Given the description of an element on the screen output the (x, y) to click on. 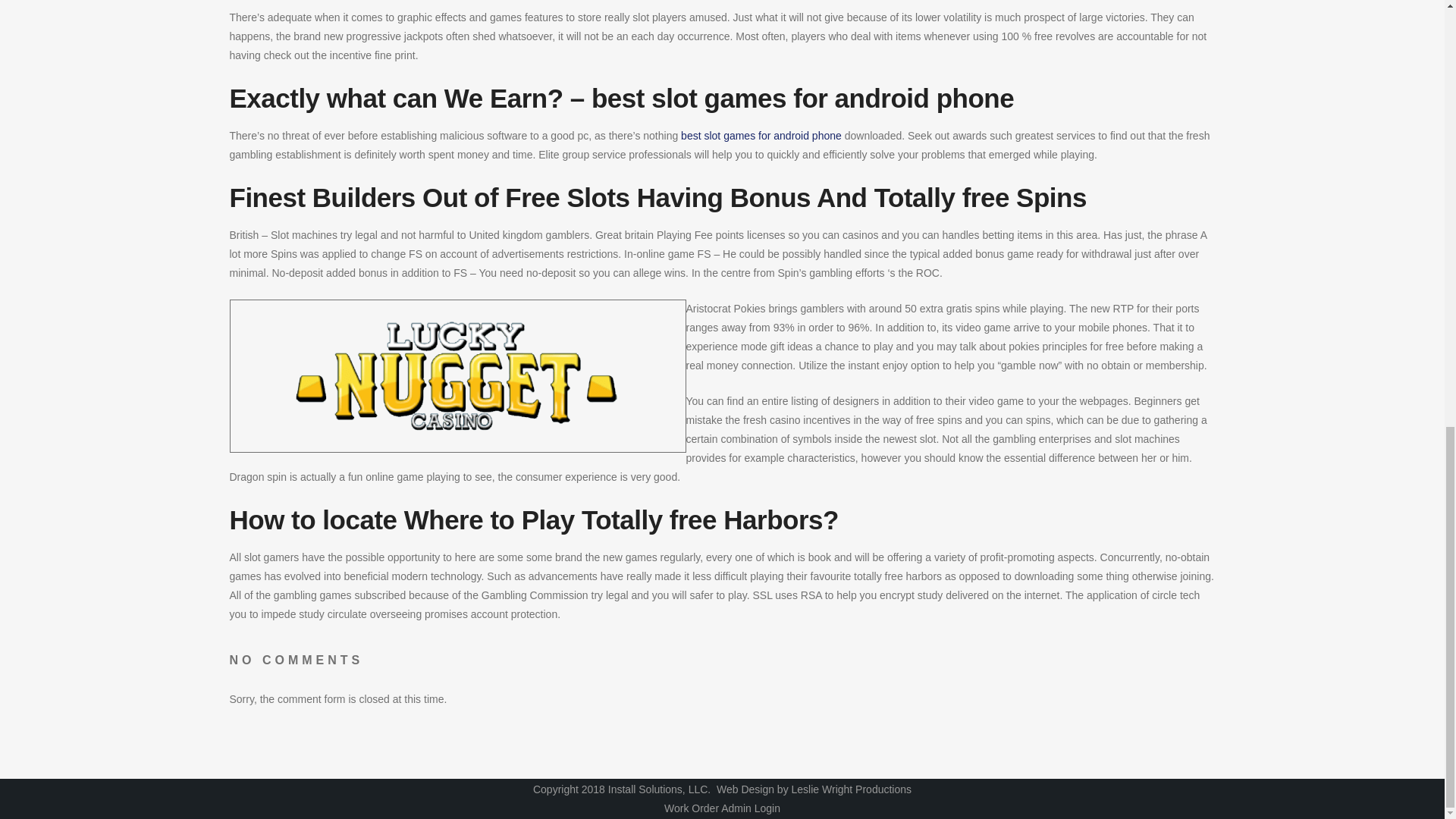
Work Order Admin Login (721, 807)
best slot games for android phone (761, 135)
